Given the description of an element on the screen output the (x, y) to click on. 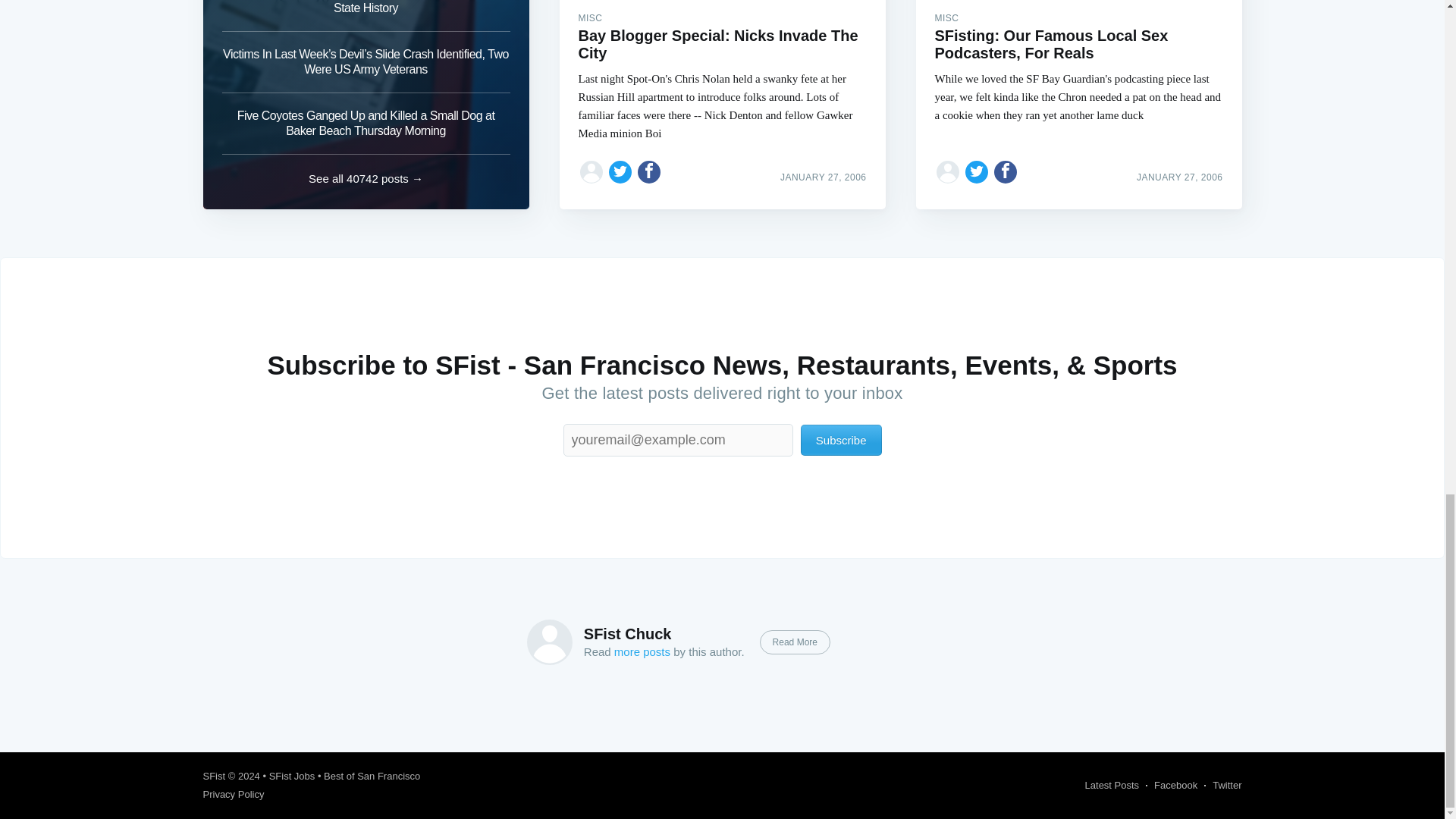
Share on Facebook (649, 171)
Share on Twitter (976, 171)
Share on Facebook (1004, 171)
Share on Twitter (620, 171)
